Given the description of an element on the screen output the (x, y) to click on. 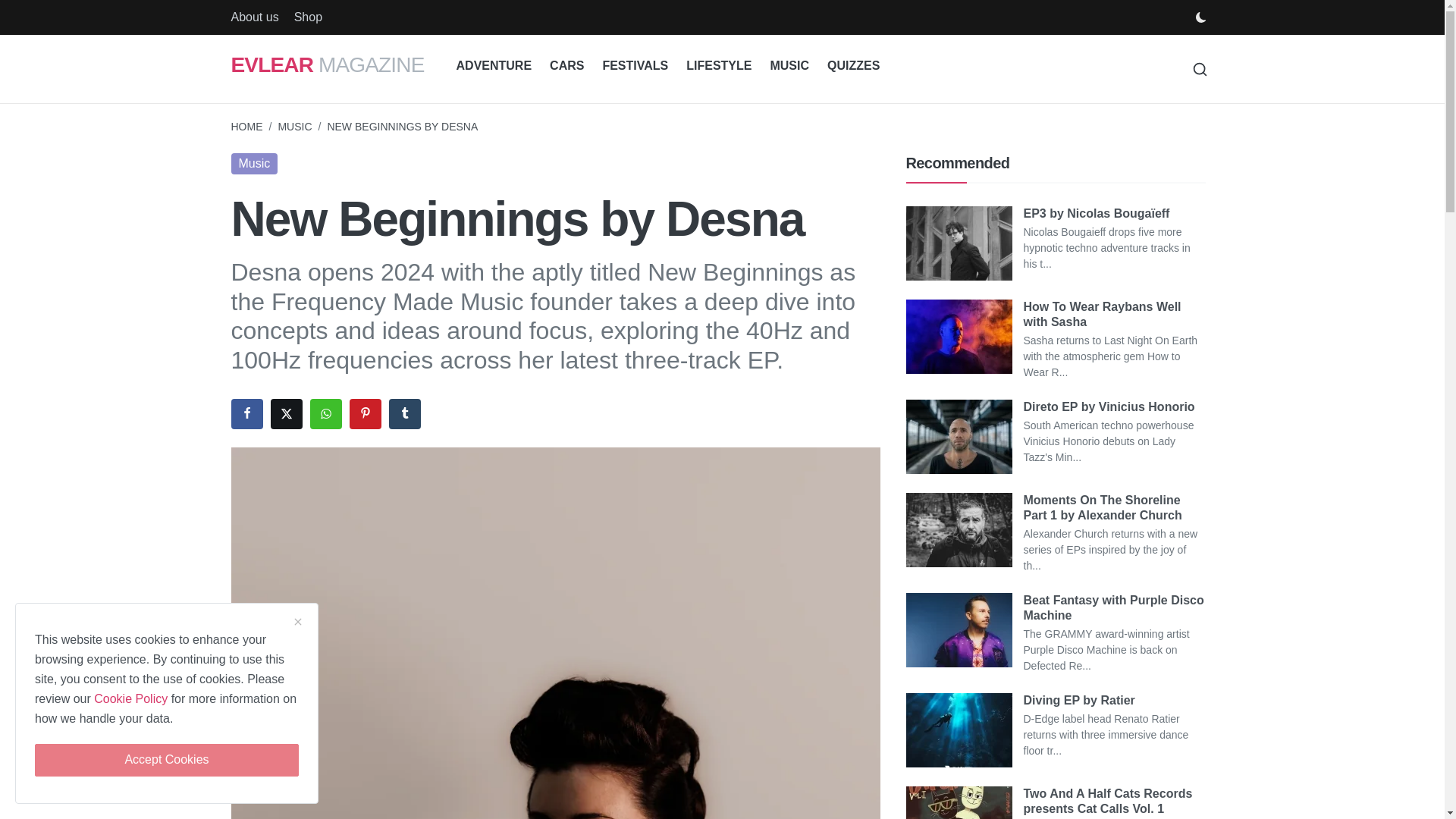
Music (789, 66)
dark (26, 371)
dark (1200, 17)
Quizzes (853, 66)
MUSIC (294, 126)
Lifestyle (718, 66)
ADVENTURE (493, 66)
Music (254, 163)
LIFESTYLE (718, 66)
About us (254, 17)
